Given the description of an element on the screen output the (x, y) to click on. 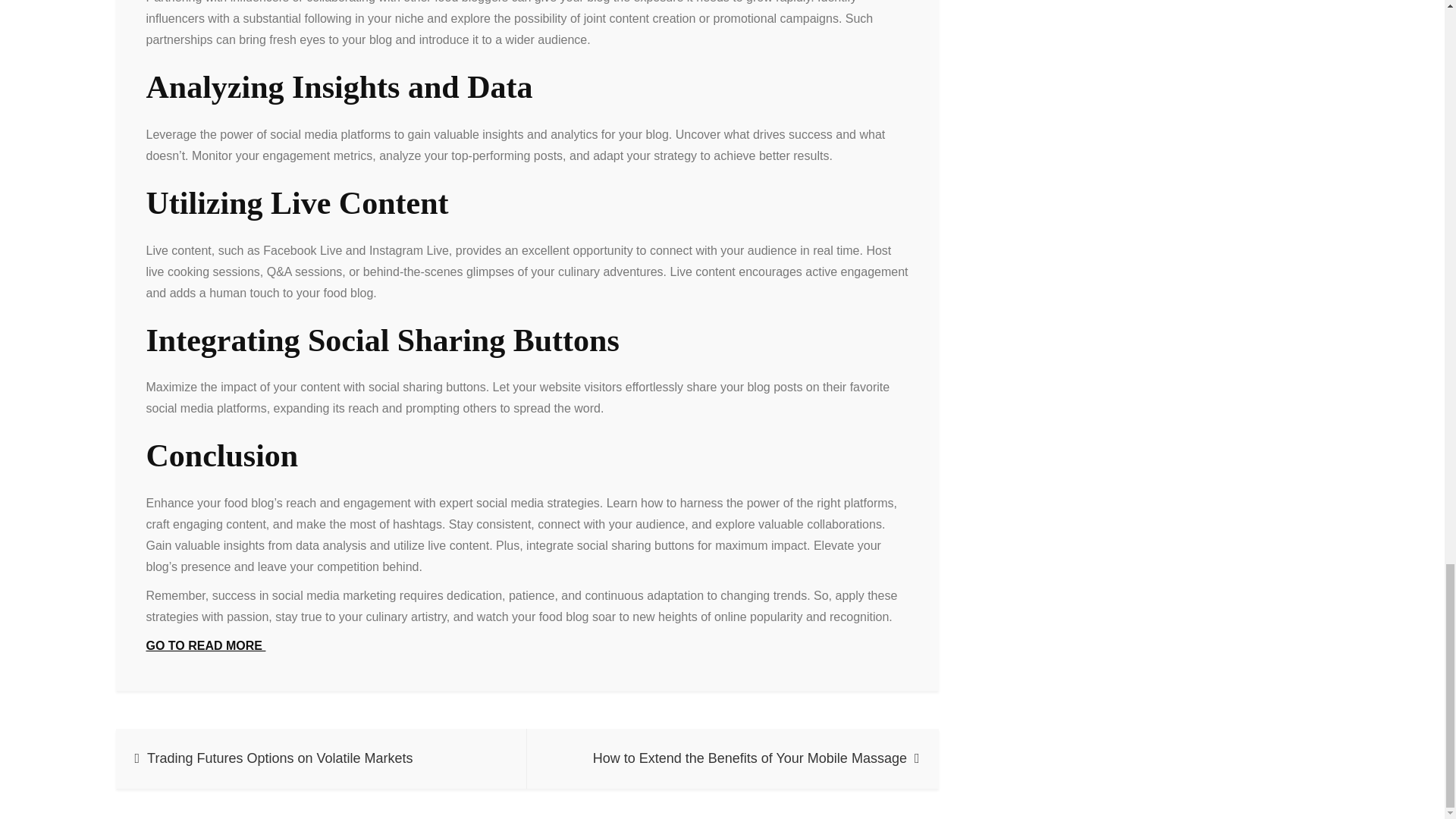
Trading Futures Options on Volatile Markets (321, 758)
How to Extend the Benefits of Your Mobile Massage (733, 758)
GO TO READ MORE  (204, 645)
